Given the description of an element on the screen output the (x, y) to click on. 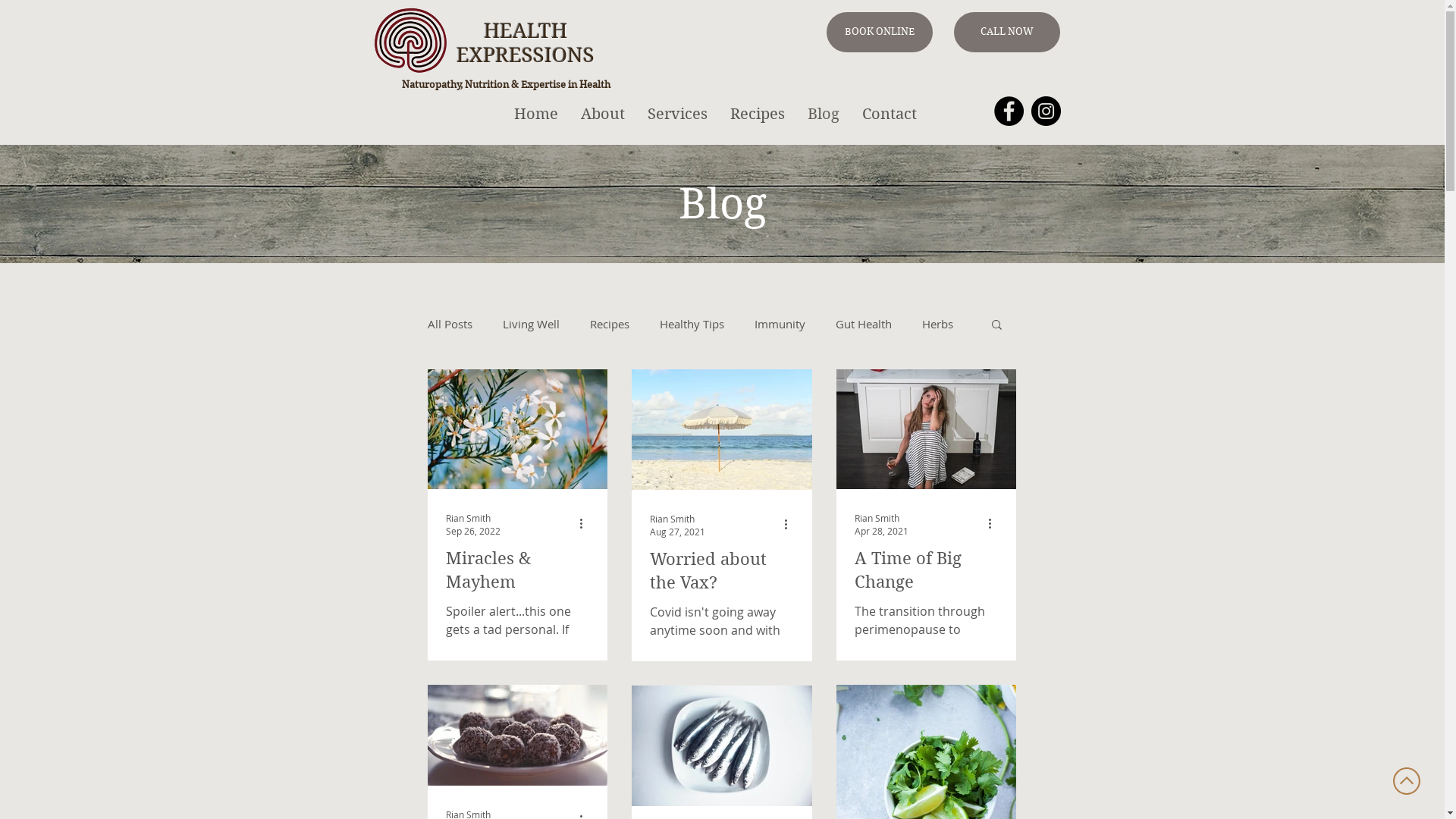
A Time of Big Change Element type: text (925, 569)
Recipes Element type: text (757, 114)
Living Well Element type: text (530, 323)
Contact Element type: text (889, 114)
Services Element type: text (677, 114)
Worried about the Vax? Element type: text (721, 570)
Home Element type: text (535, 114)
Miracles & Mayhem Element type: text (517, 569)
Naturopathy, Nutrition & Expertise in Health  Element type: text (506, 84)
Healthy Tips Element type: text (691, 323)
Herbs Element type: text (937, 323)
HEALTH EXPRESSIONS Element type: text (525, 42)
Logo_edited.png Element type: hover (409, 40)
About Element type: text (602, 114)
Gut Health Element type: text (863, 323)
Immunity Element type: text (778, 323)
Blog Element type: text (823, 114)
All Posts Element type: text (449, 323)
BOOK ONLINE Element type: text (879, 32)
CALL NOW Element type: text (1006, 32)
Recipes Element type: text (609, 323)
